Given the description of an element on the screen output the (x, y) to click on. 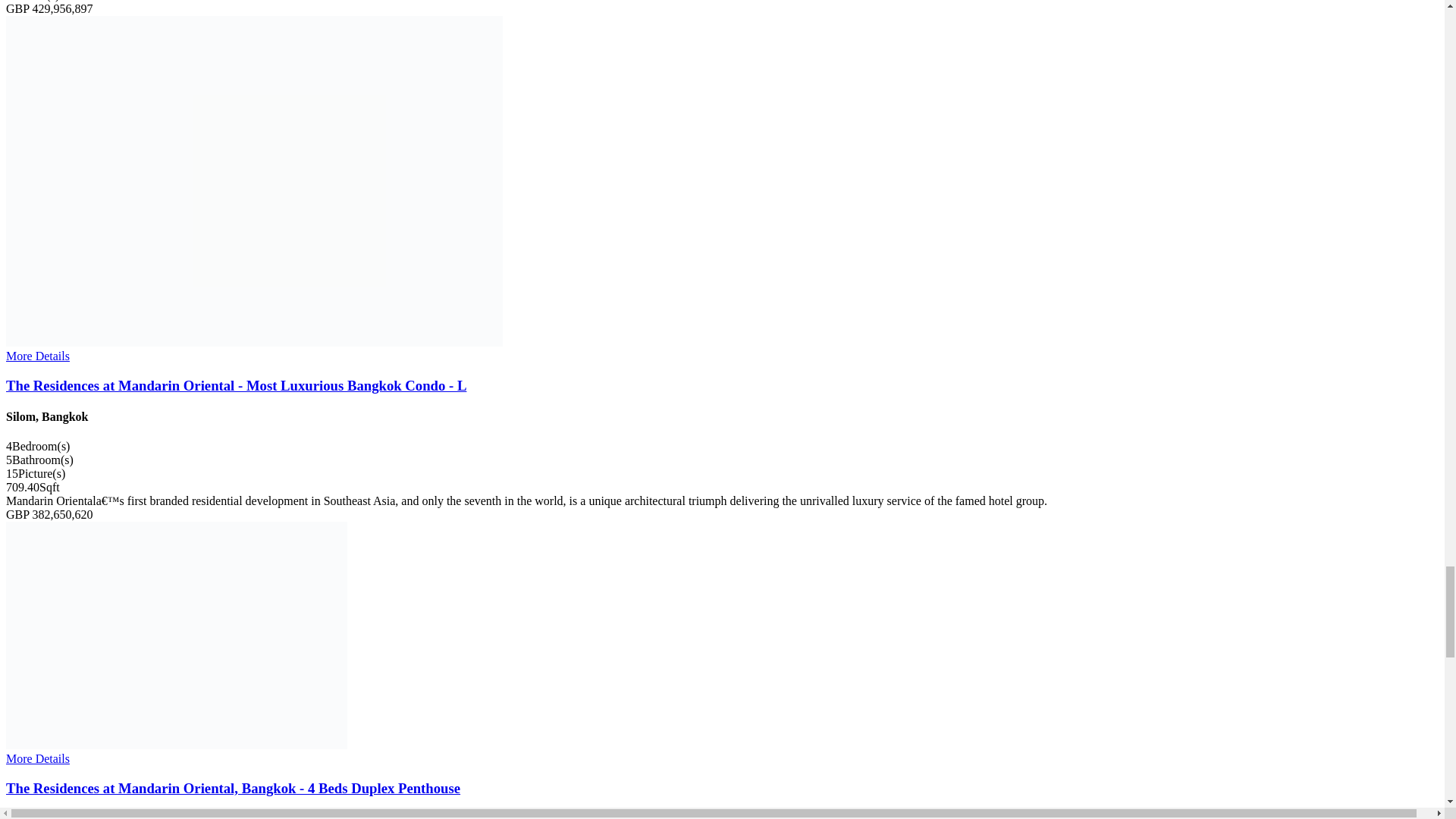
4 Bed, 4 Bath, ApartmentFor Sale, Silom, Bangkok (176, 635)
